Given the description of an element on the screen output the (x, y) to click on. 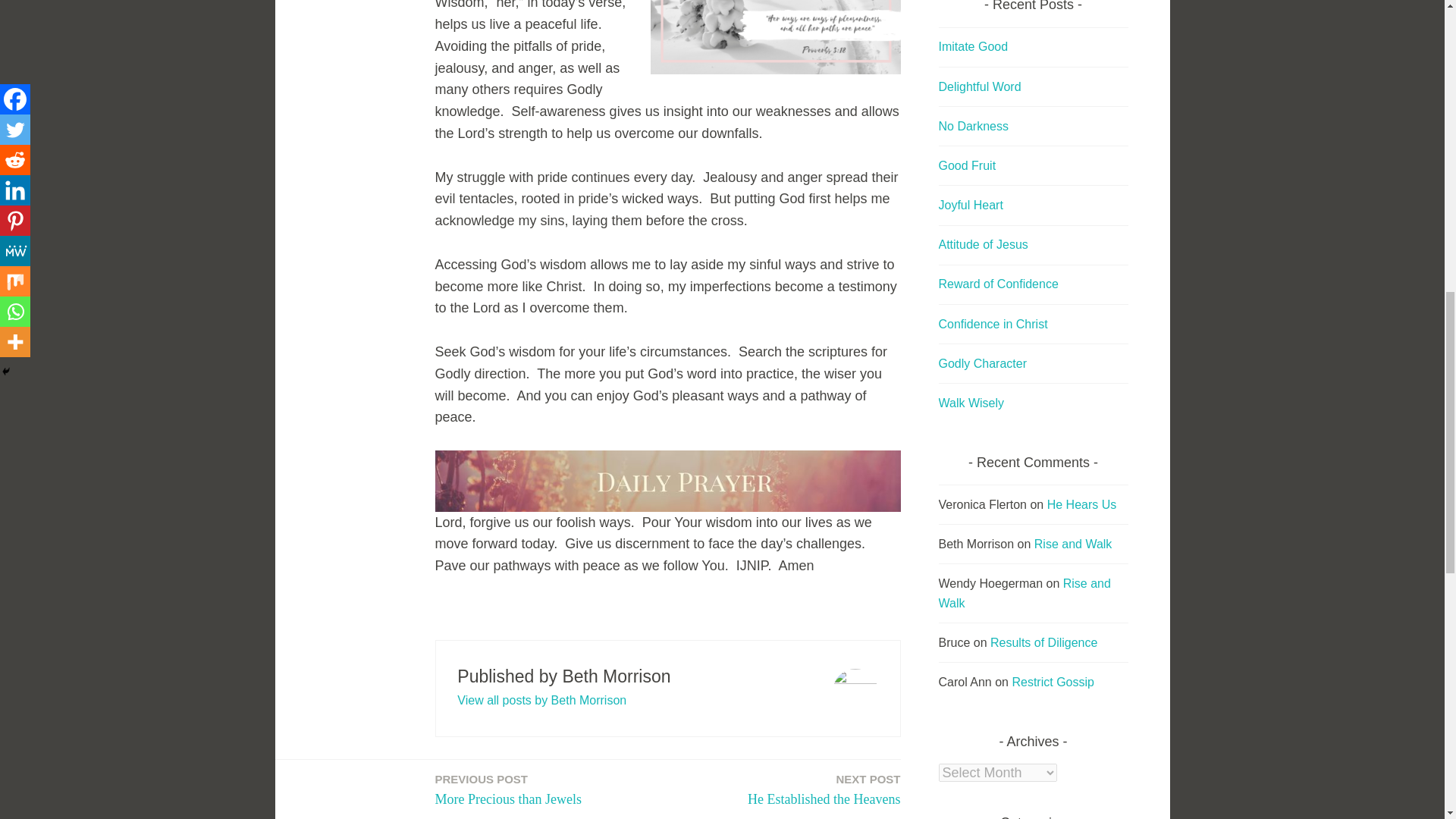
View all posts by Beth Morrison (507, 790)
